Given the description of an element on the screen output the (x, y) to click on. 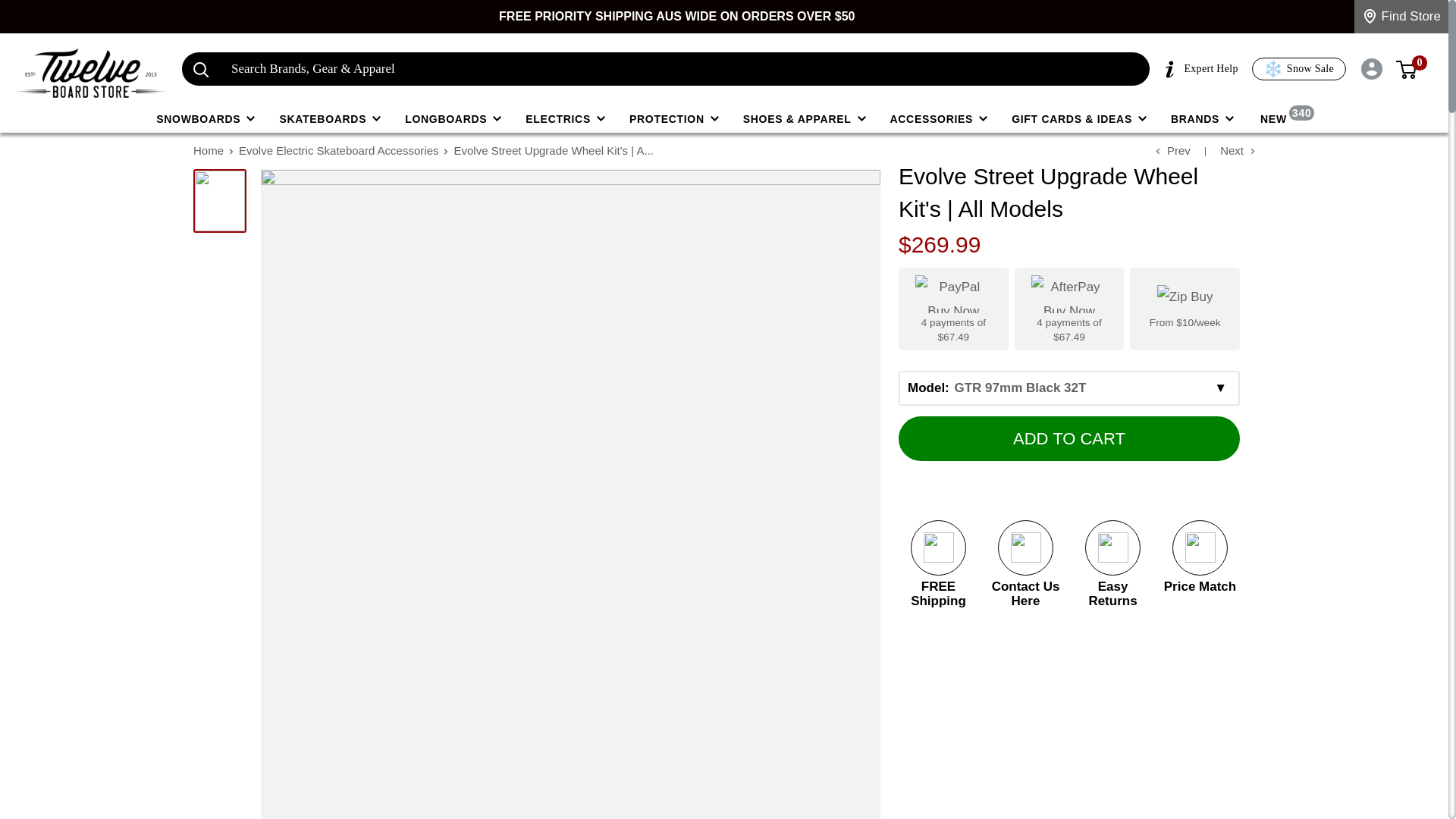
Find Store (1401, 16)
